Given the description of an element on the screen output the (x, y) to click on. 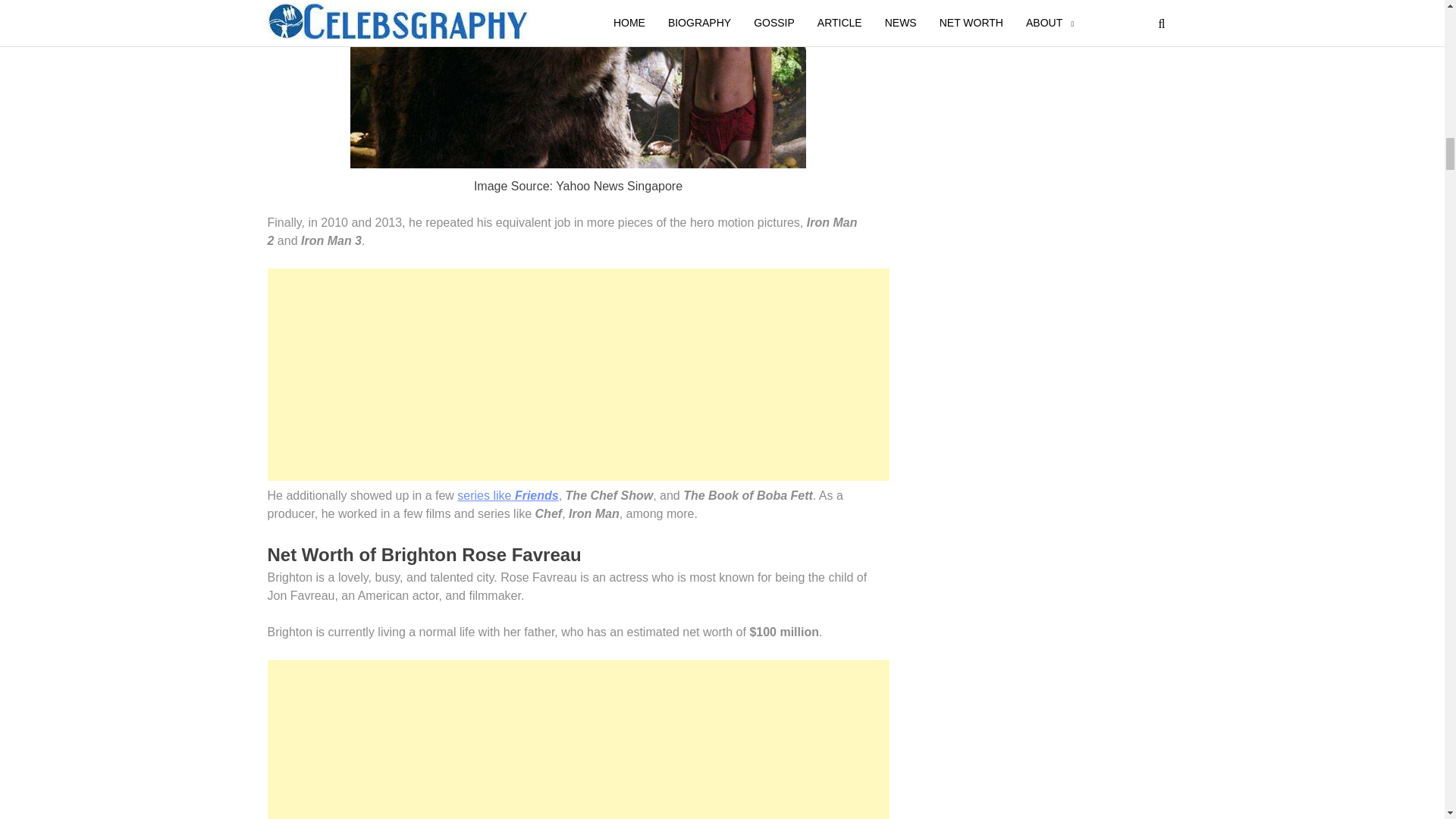
series like Friends (507, 495)
